Given the description of an element on the screen output the (x, y) to click on. 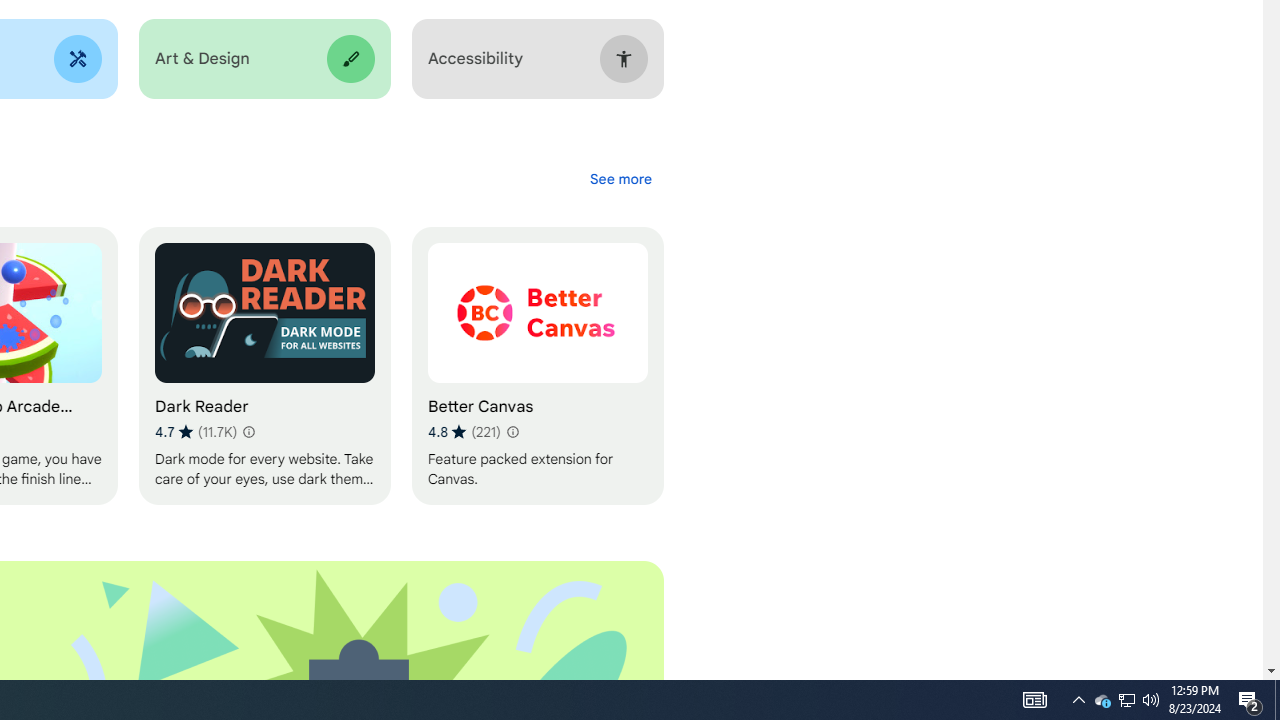
Dark Reader (264, 366)
Learn more about results and reviews "Better Canvas" (511, 431)
Accessibility (537, 59)
Better Canvas (537, 366)
Average rating 4.7 out of 5 stars. 11.7K ratings. (195, 431)
Learn more about results and reviews "Dark Reader" (247, 431)
Art & Design (264, 59)
See more personalized recommendations (620, 178)
Average rating 4.8 out of 5 stars. 221 ratings. (463, 431)
